Given the description of an element on the screen output the (x, y) to click on. 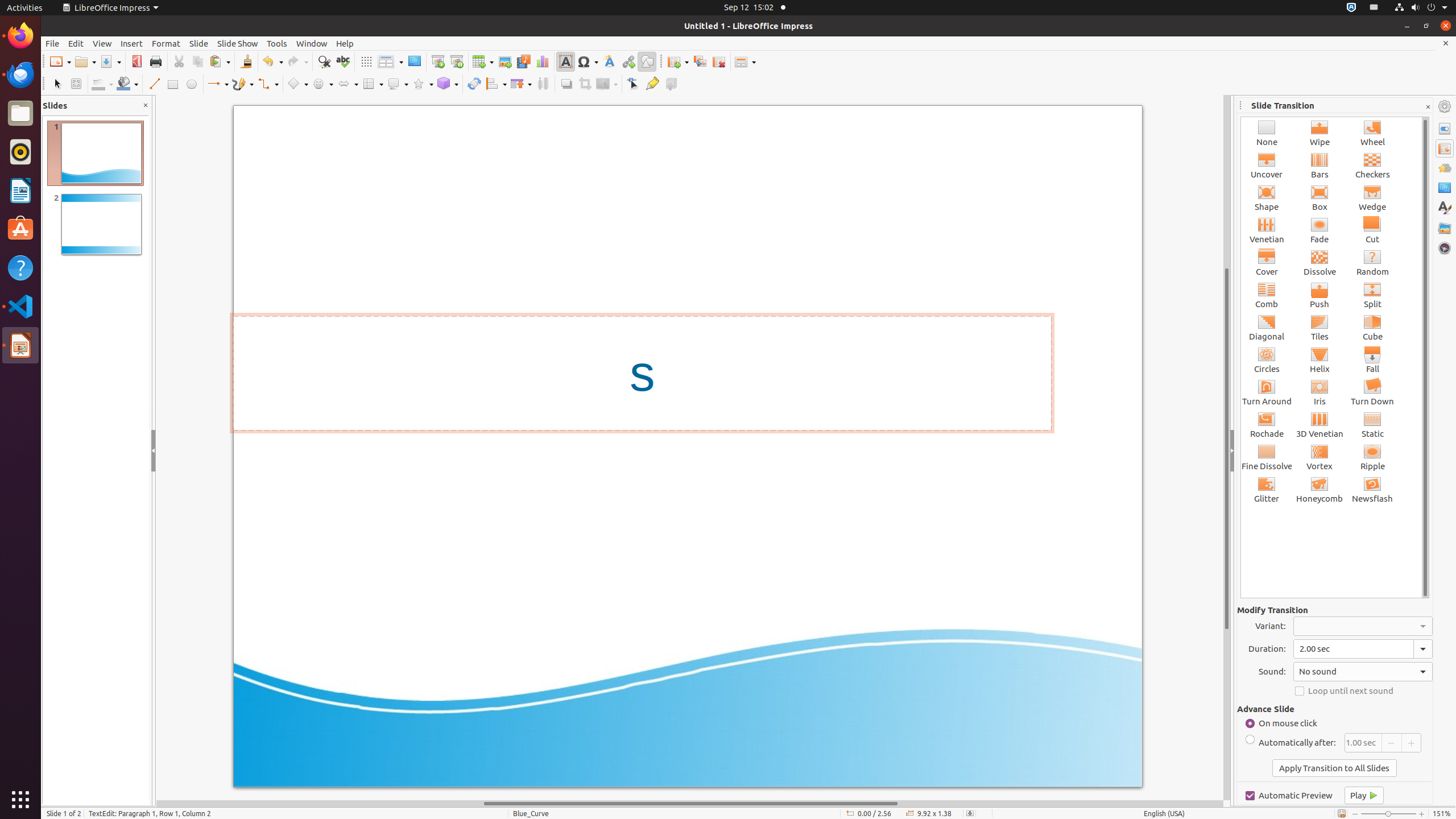
Symbol Element type: push-button (587, 61)
Variant: Element type: combo-box (1362, 625)
Rotate Element type: push-button (473, 83)
Files Element type: push-button (20, 113)
Rochade Element type: list-item (1266, 424)
